Given the description of an element on the screen output the (x, y) to click on. 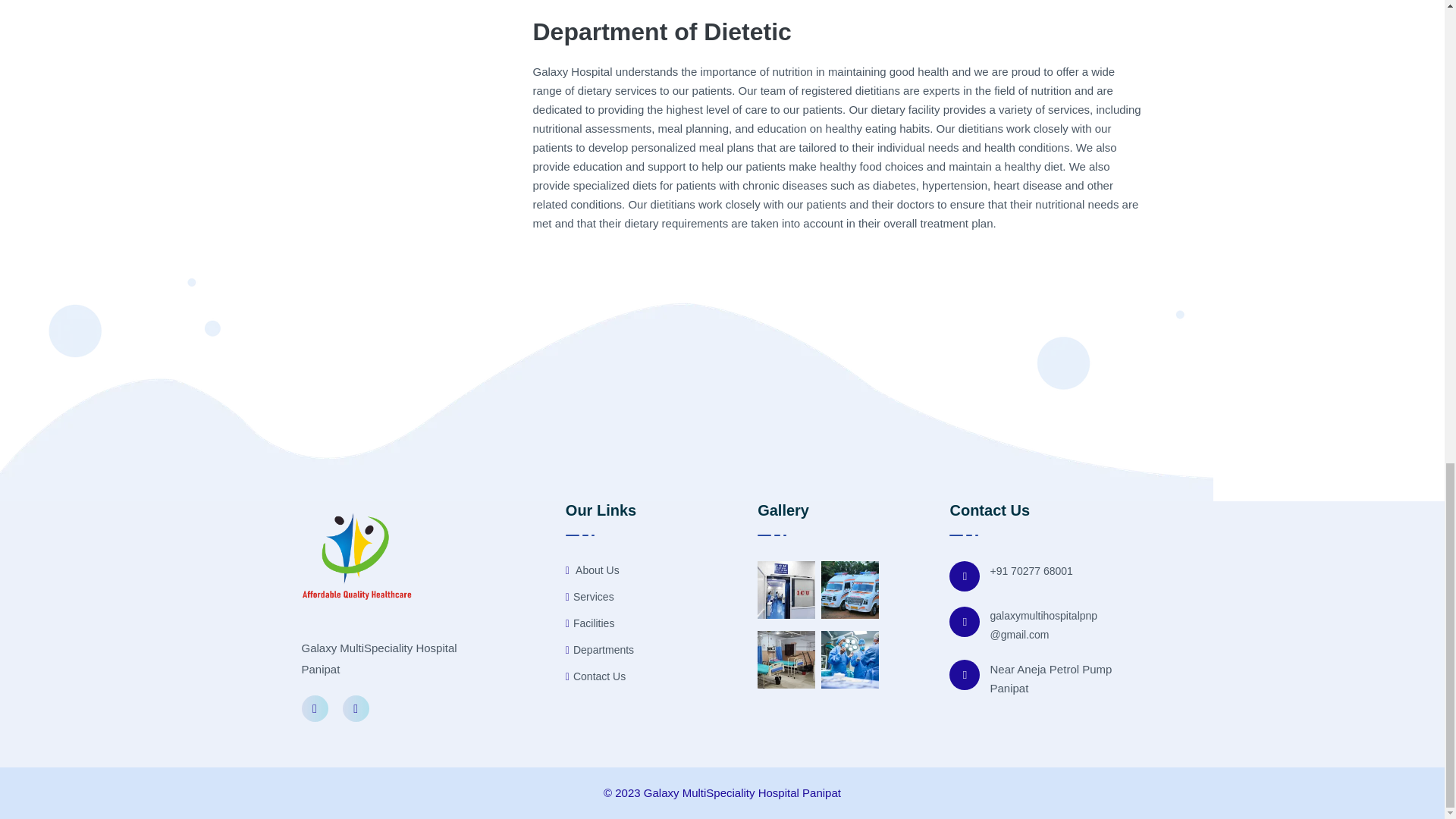
Contact Us (596, 676)
Departments (599, 650)
Facilities (590, 623)
About Us (593, 570)
Services (590, 597)
